Given the description of an element on the screen output the (x, y) to click on. 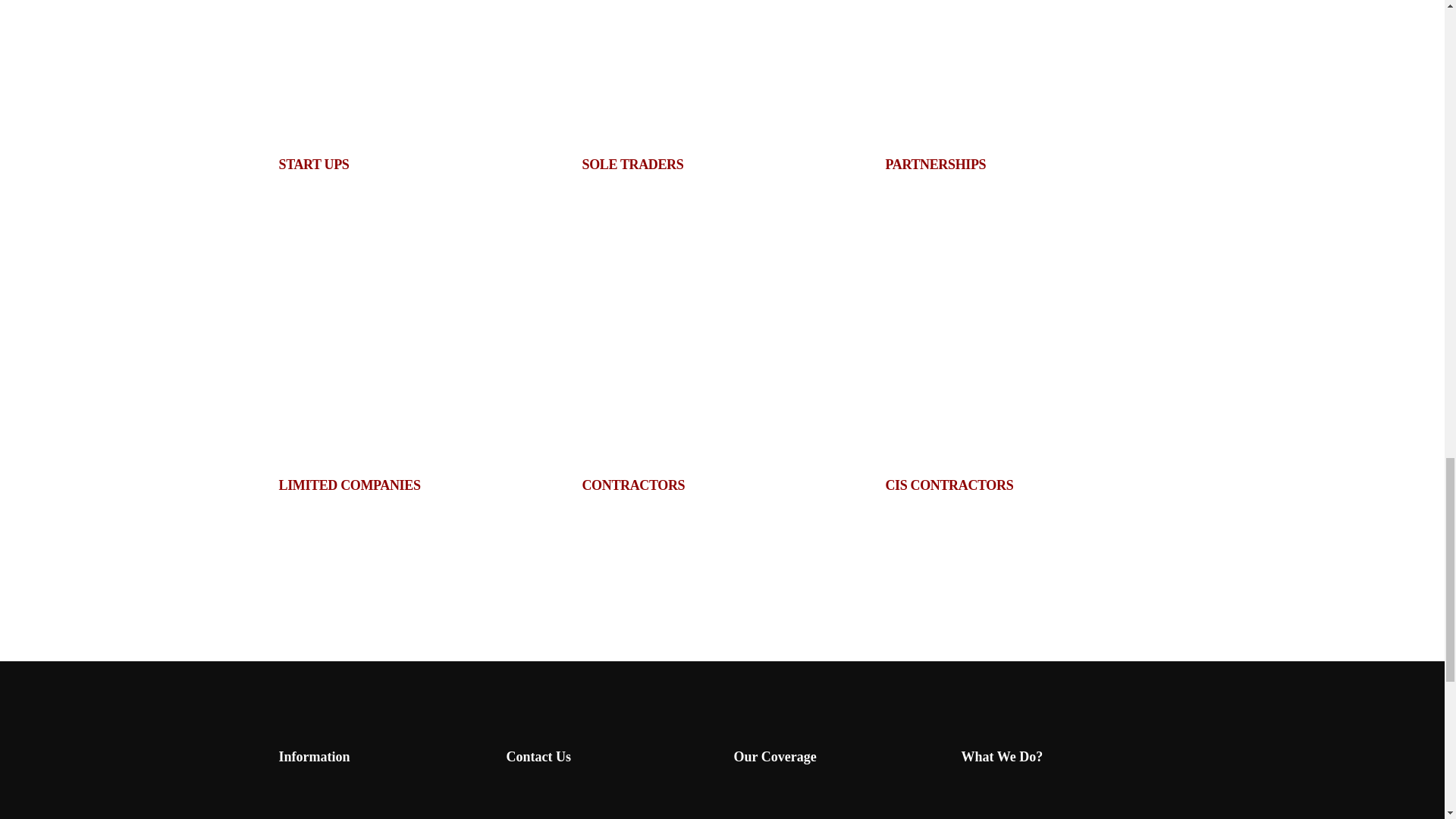
PARTNERSHIPS (935, 163)
LIMITED COMPANIES (349, 485)
CONTRACTORS (632, 485)
SOLE TRADERS (631, 163)
START UPS (314, 163)
